Given the description of an element on the screen output the (x, y) to click on. 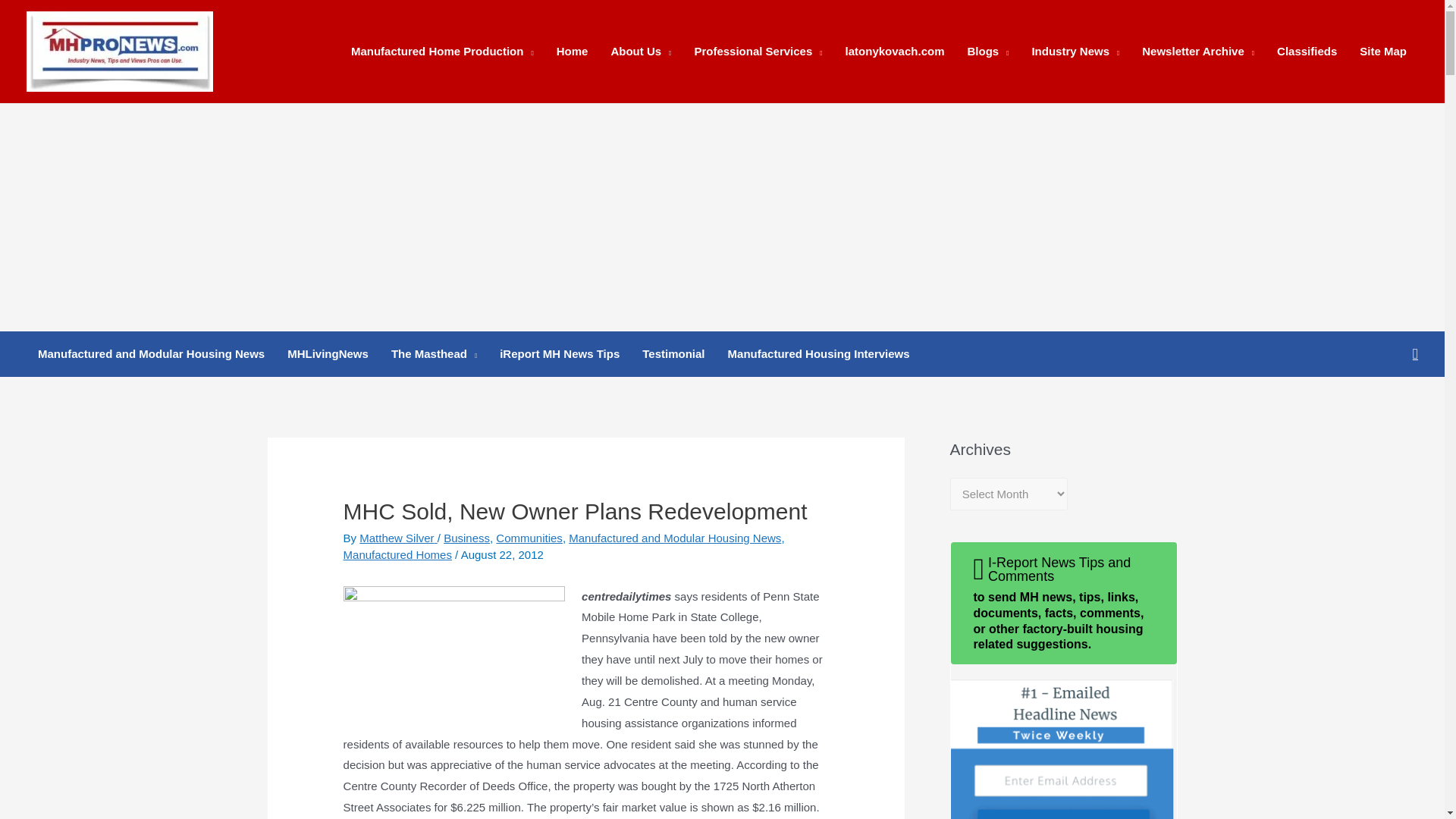
Home (571, 51)
About Us (640, 51)
Classifieds (1306, 51)
Site Map (1383, 51)
Newsletter Archive (1198, 51)
latonykovach.com (895, 51)
Blogs (987, 51)
Industry News (1075, 51)
Manufactured Home Production (441, 51)
Professional Services (757, 51)
View all posts by Matthew Silver (398, 537)
